Given the description of an element on the screen output the (x, y) to click on. 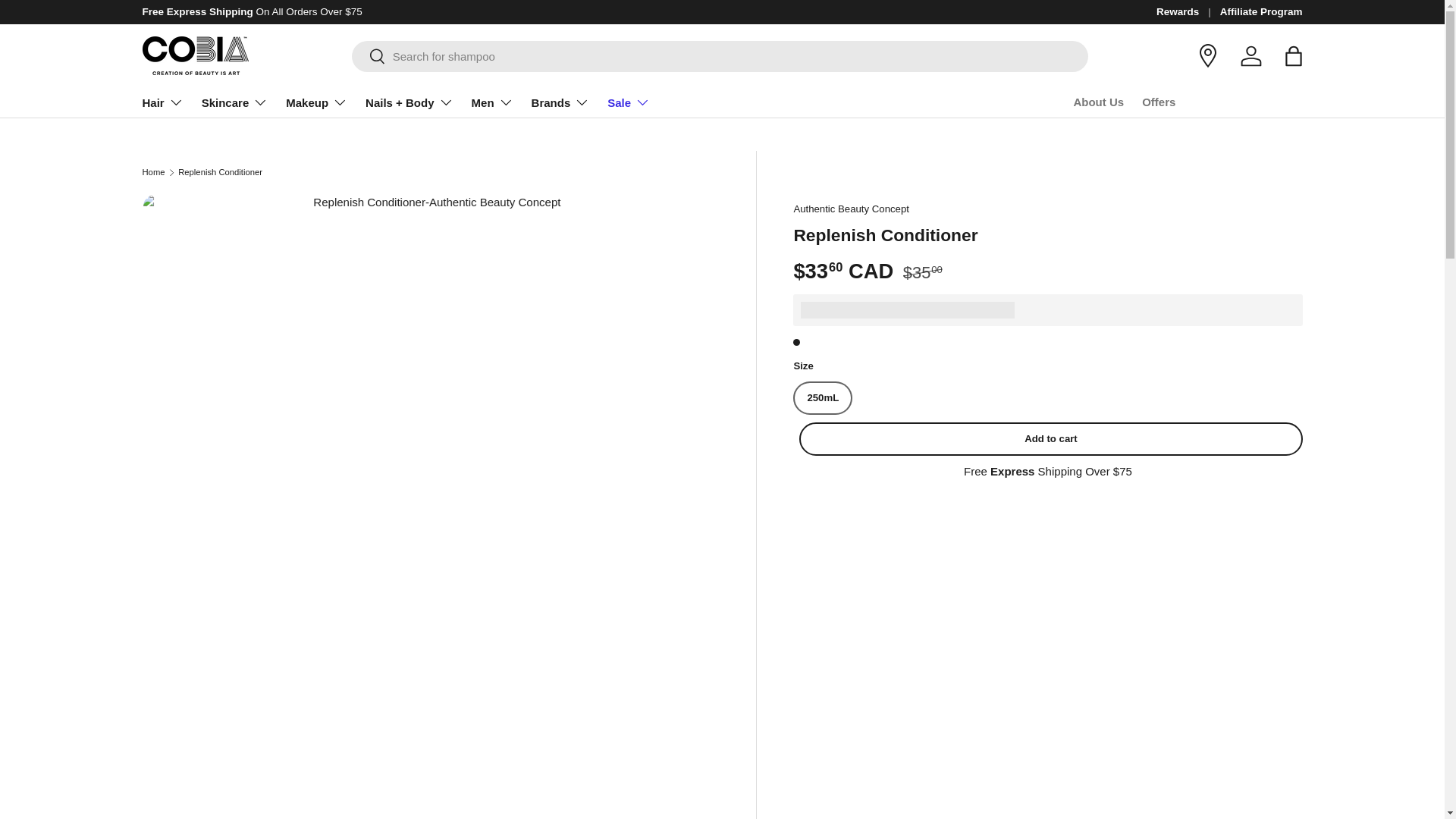
Rewards (1188, 11)
Search (368, 57)
Bag (1293, 55)
Log in (1251, 55)
Affiliate Program (1261, 11)
Hair (162, 101)
Skip to content (69, 21)
